Given the description of an element on the screen output the (x, y) to click on. 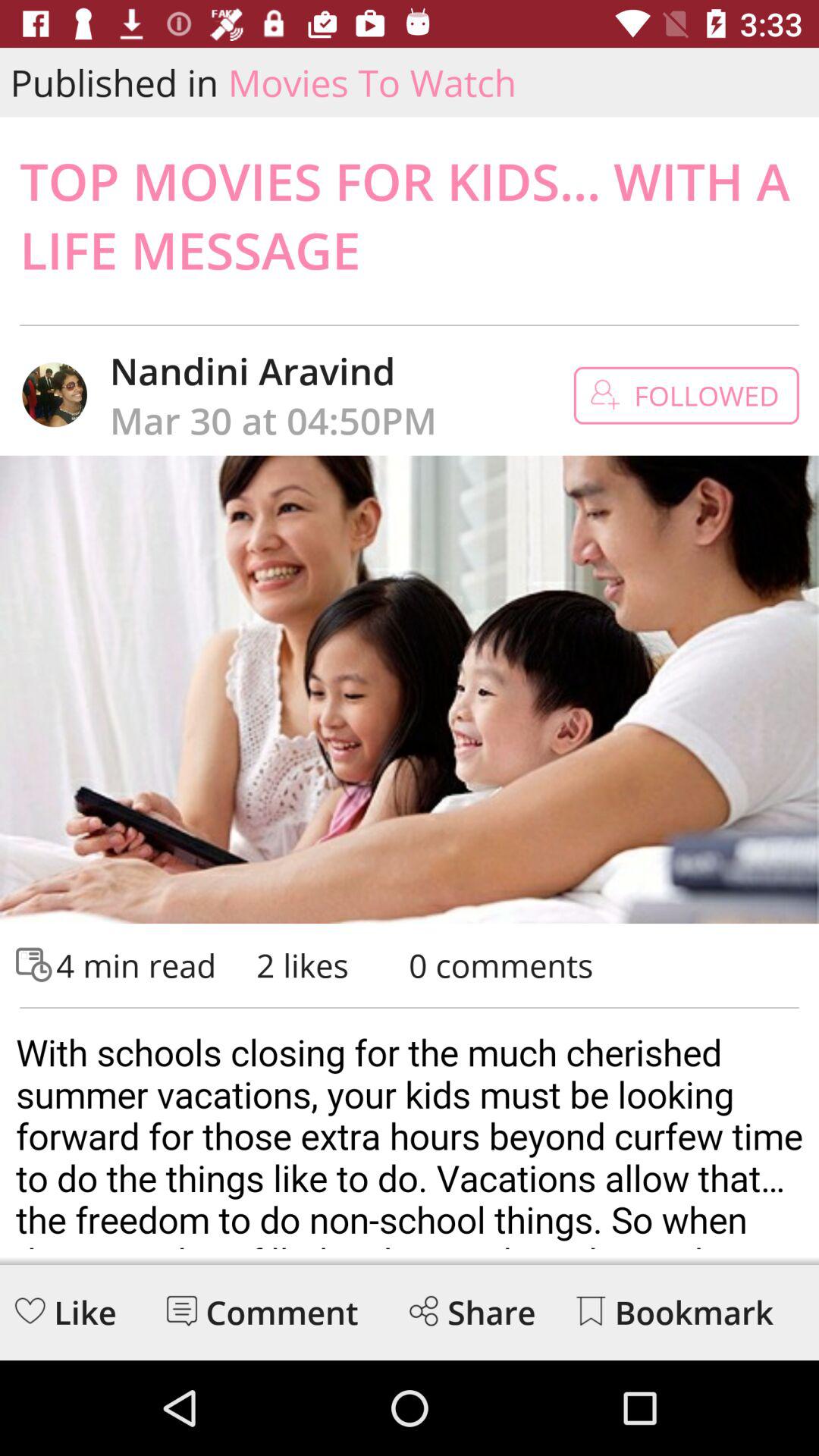
conditions (409, 1133)
